Given the description of an element on the screen output the (x, y) to click on. 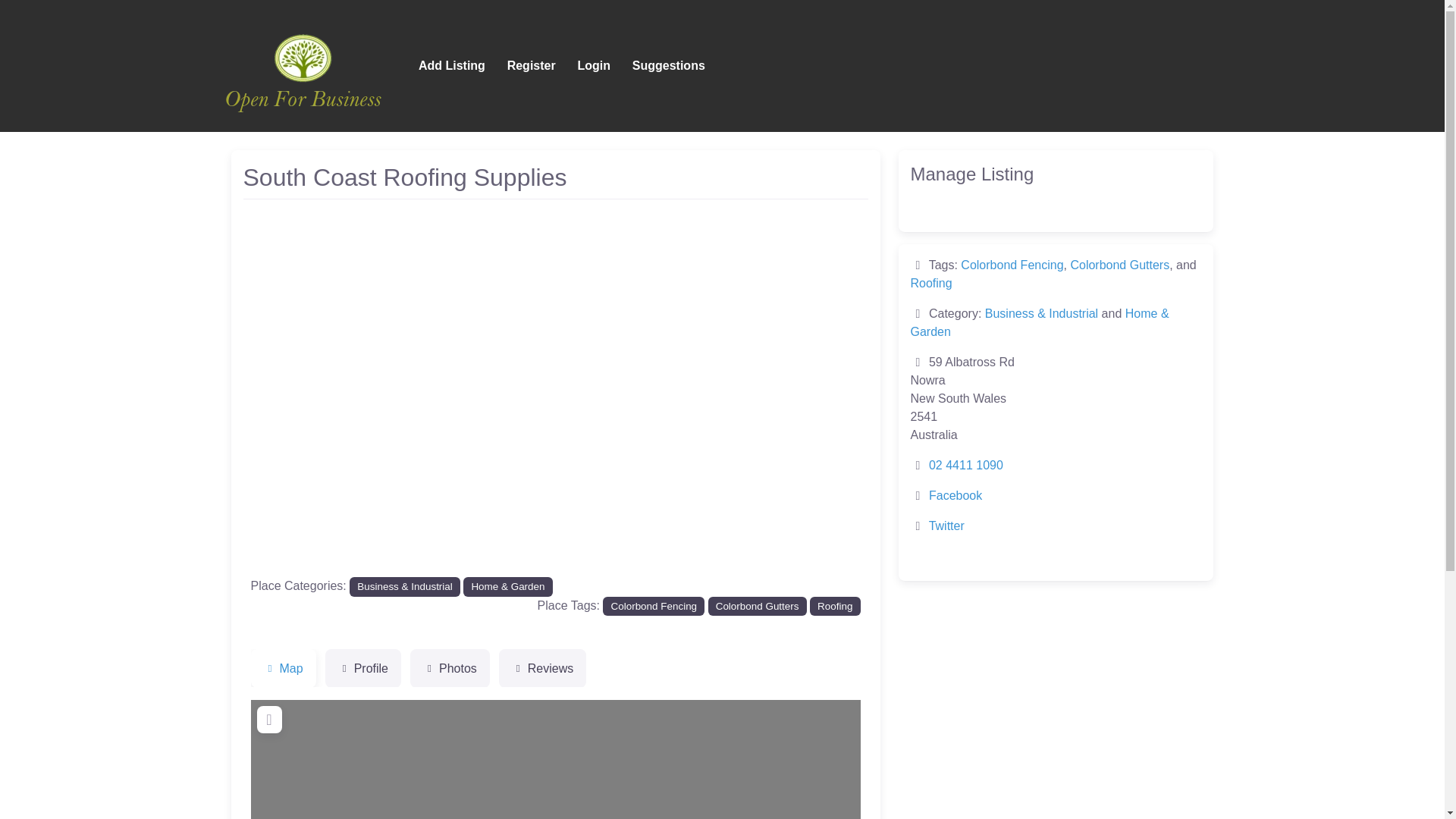
Colorbond Fencing (1011, 264)
Colorbond Gutters (1119, 264)
Profile (362, 668)
Reviews (542, 668)
Roofing (931, 282)
Photos (449, 668)
Reviews (542, 668)
Colorbond Fencing (653, 606)
Add Listing (451, 65)
Map (282, 668)
